Given the description of an element on the screen output the (x, y) to click on. 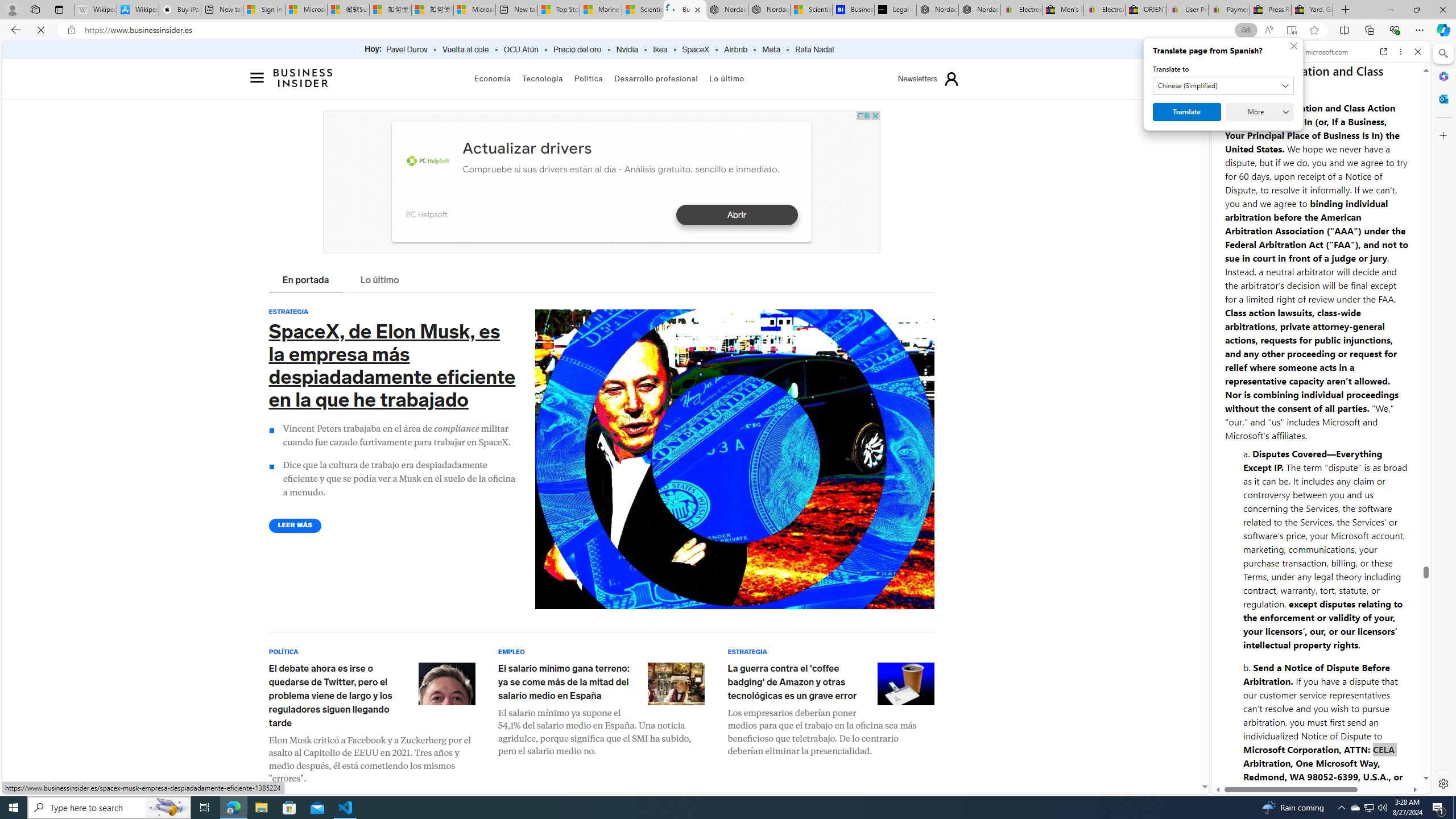
En portada (305, 281)
Translate (1141, 112)
Collage of Elon Musk with US currency and a Tesla (734, 459)
More (1213, 112)
Desarrollo profesional (656, 78)
